Given the description of an element on the screen output the (x, y) to click on. 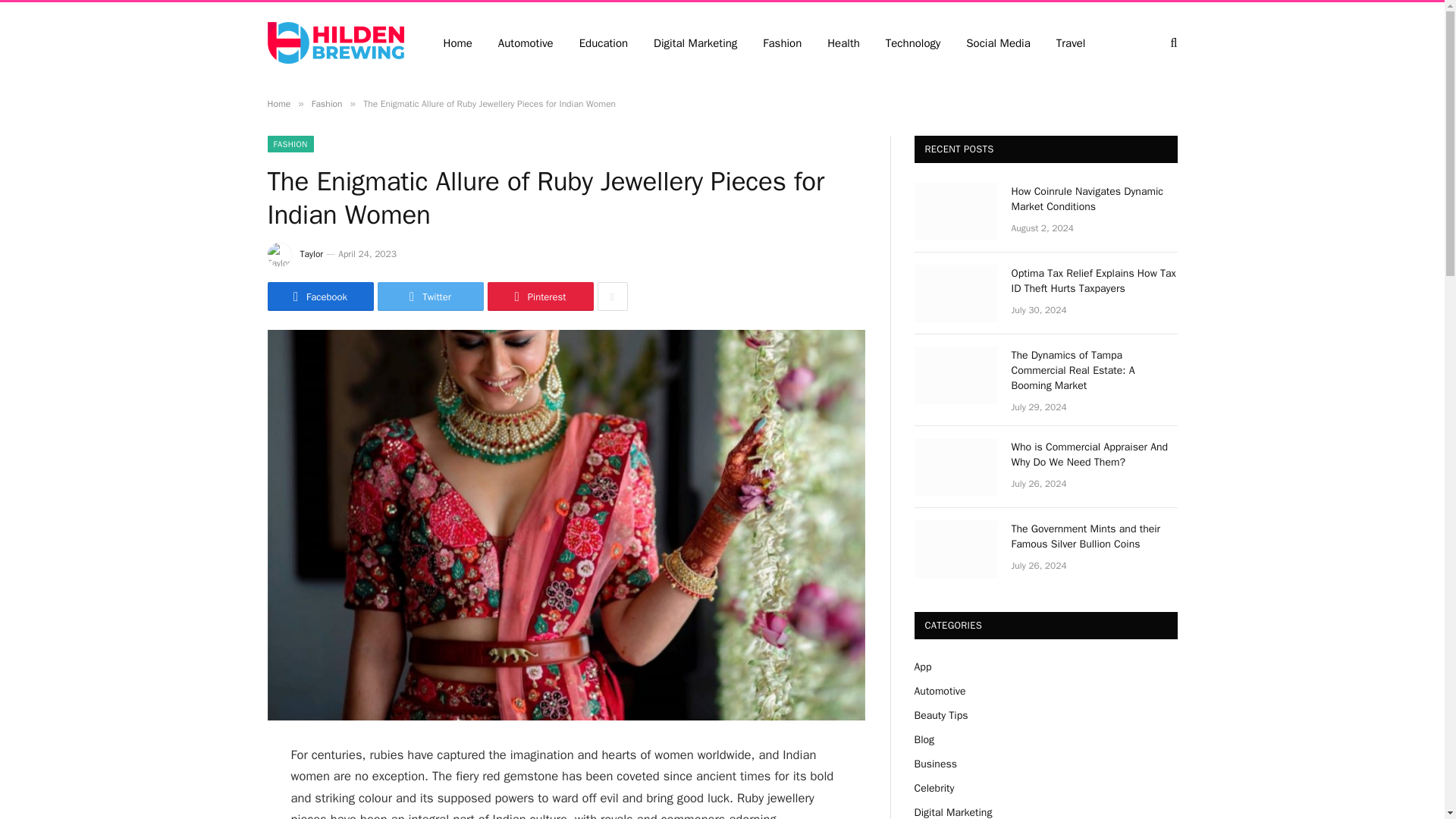
Digital Marketing (694, 42)
Automotive (525, 42)
Posts by Taylor (311, 254)
Home (457, 42)
Home (277, 103)
Pinterest (539, 296)
Taylor (311, 254)
Fashion (326, 103)
Travel (1071, 42)
FASHION (289, 143)
Technology (912, 42)
Health (842, 42)
Social Media (997, 42)
Facebook (319, 296)
Education (603, 42)
